Given the description of an element on the screen output the (x, y) to click on. 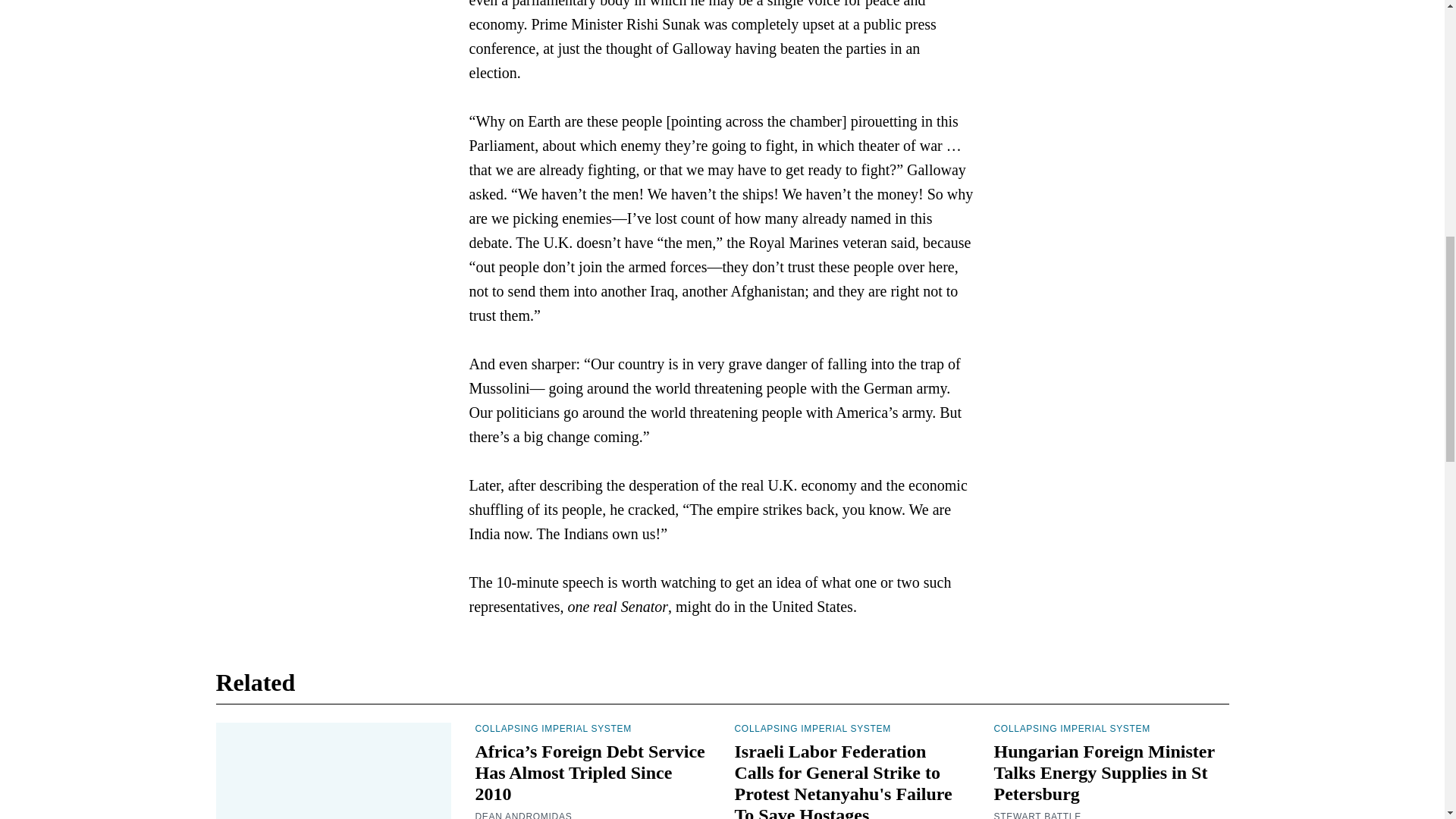
DEAN ANDROMIDAS (523, 814)
COLLAPSING IMPERIAL SYSTEM (1071, 728)
STEWART BATTLE (1036, 814)
COLLAPSING IMPERIAL SYSTEM (811, 728)
COLLAPSING IMPERIAL SYSTEM (552, 728)
